Given the description of an element on the screen output the (x, y) to click on. 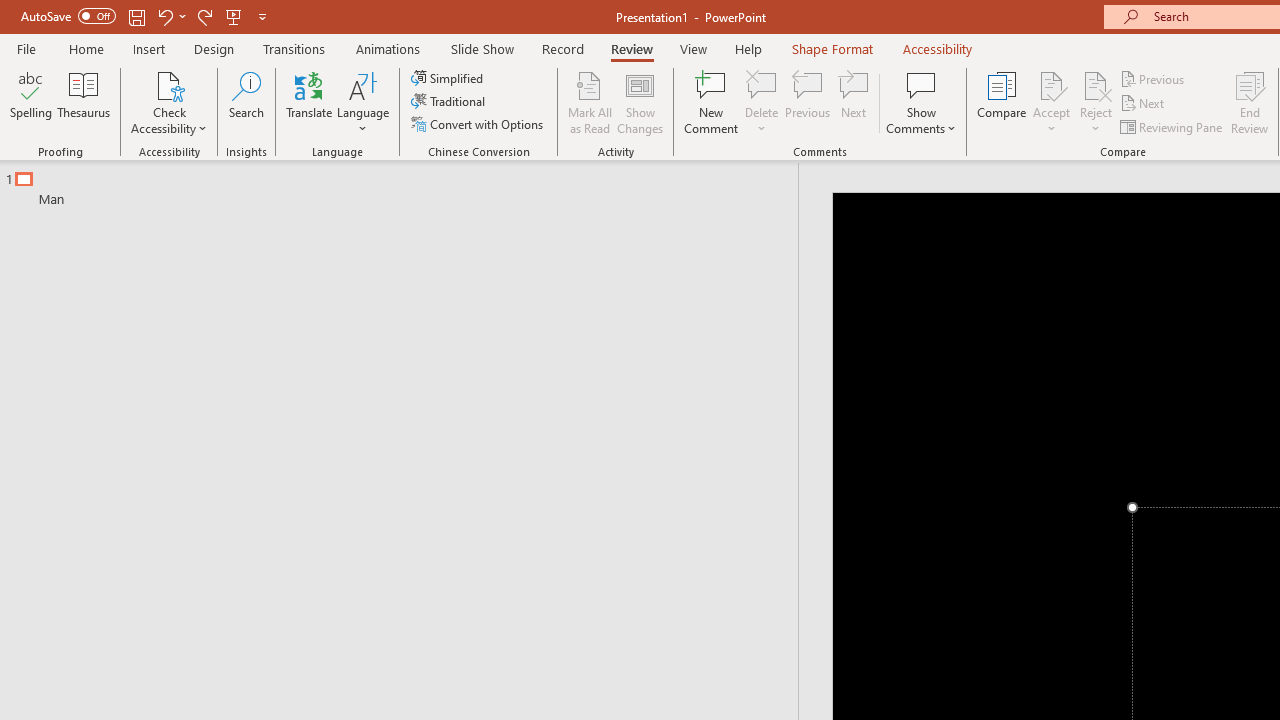
Mark All as Read (589, 102)
End Review (1249, 102)
Compare (1002, 102)
Previous (1153, 78)
Outline (408, 184)
Reject (1096, 102)
Reviewing Pane (1172, 126)
